Given the description of an element on the screen output the (x, y) to click on. 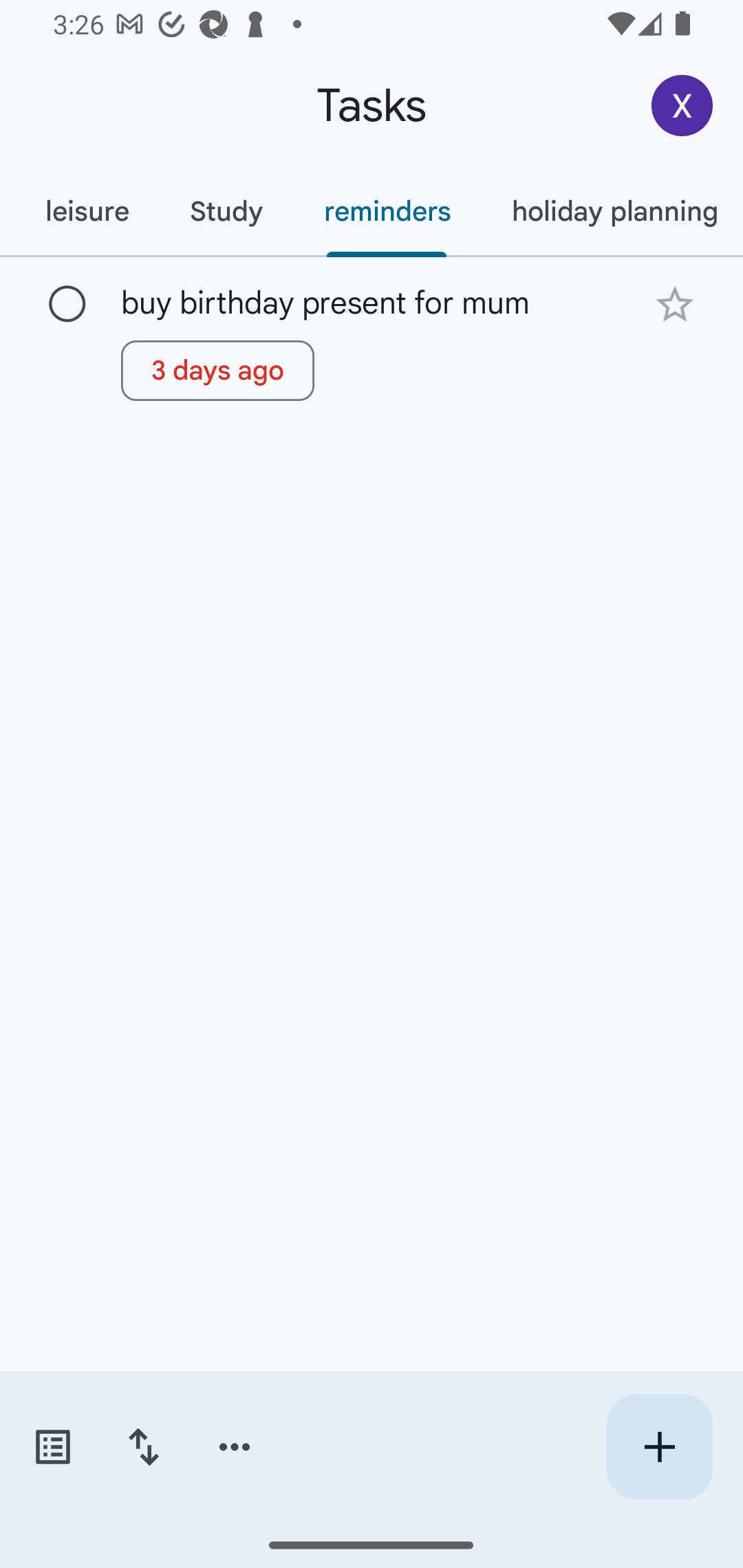
leisure (86, 211)
Study (225, 211)
holiday planning (611, 211)
Add star (674, 303)
Mark as complete (67, 304)
3 days ago (217, 369)
Switch task lists (52, 1447)
Create new task (659, 1446)
Change sort order (143, 1446)
More options (234, 1446)
